Given the description of an element on the screen output the (x, y) to click on. 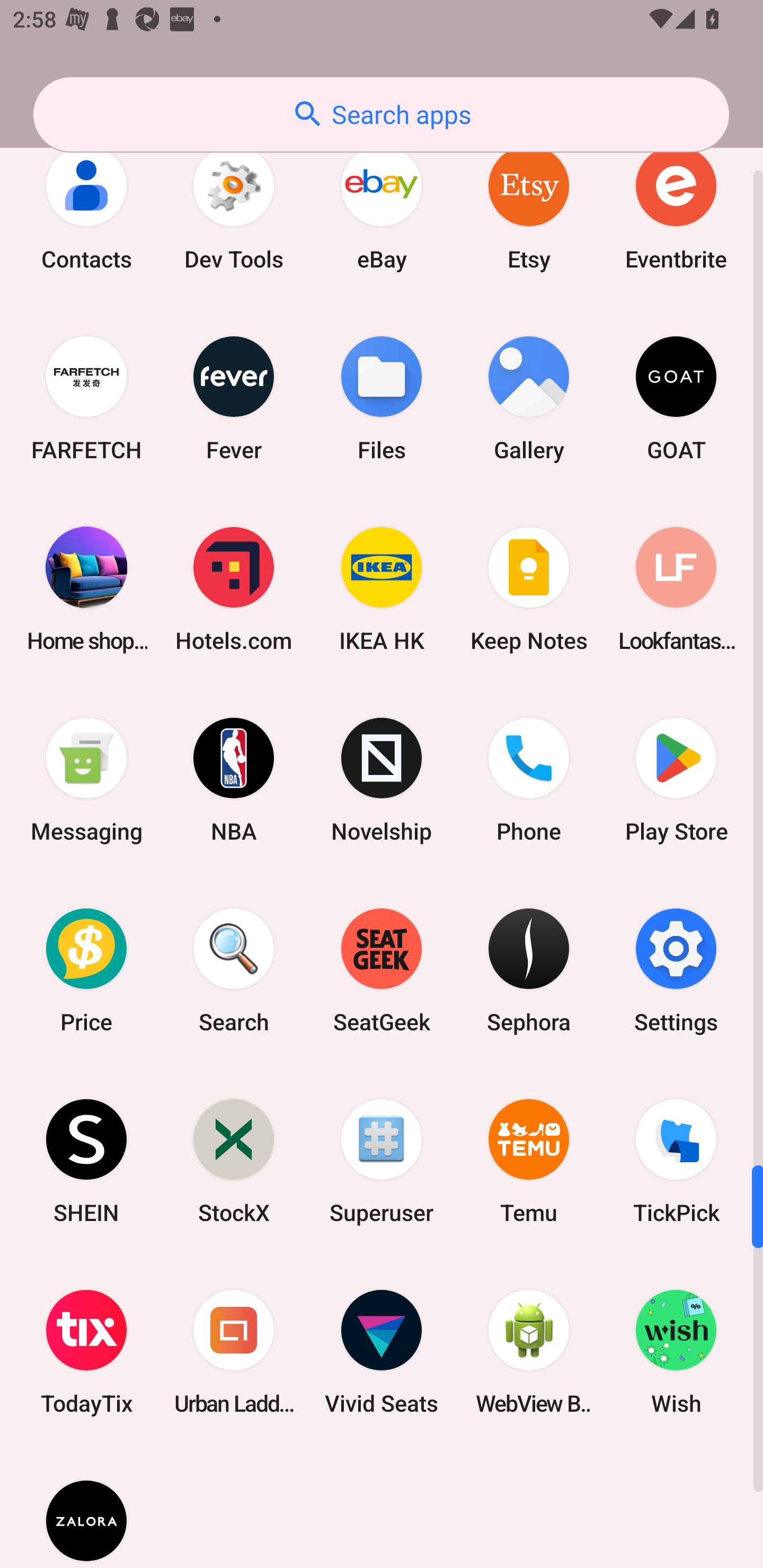
  Search apps (381, 114)
Contacts (86, 207)
Dev Tools (233, 207)
eBay (381, 207)
Etsy (528, 207)
Eventbrite (676, 207)
FARFETCH (86, 397)
Fever (233, 397)
Files (381, 397)
Gallery (528, 397)
GOAT (676, 397)
Home shopping (86, 588)
Hotels.com (233, 588)
IKEA HK (381, 588)
Keep Notes (528, 588)
Lookfantastic (676, 588)
Messaging (86, 778)
NBA (233, 778)
Novelship (381, 778)
Phone (528, 778)
Play Store (676, 778)
Price (86, 970)
Search (233, 970)
SeatGeek (381, 970)
Sephora (528, 970)
Settings (676, 970)
SHEIN (86, 1160)
StockX (233, 1160)
Superuser (381, 1160)
Temu (528, 1160)
TickPick (676, 1160)
TodayTix (86, 1351)
Urban Ladder (233, 1351)
Vivid Seats (381, 1351)
WebView Browser Tester (528, 1351)
Wish (676, 1351)
ZALORA (86, 1507)
